Given the description of an element on the screen output the (x, y) to click on. 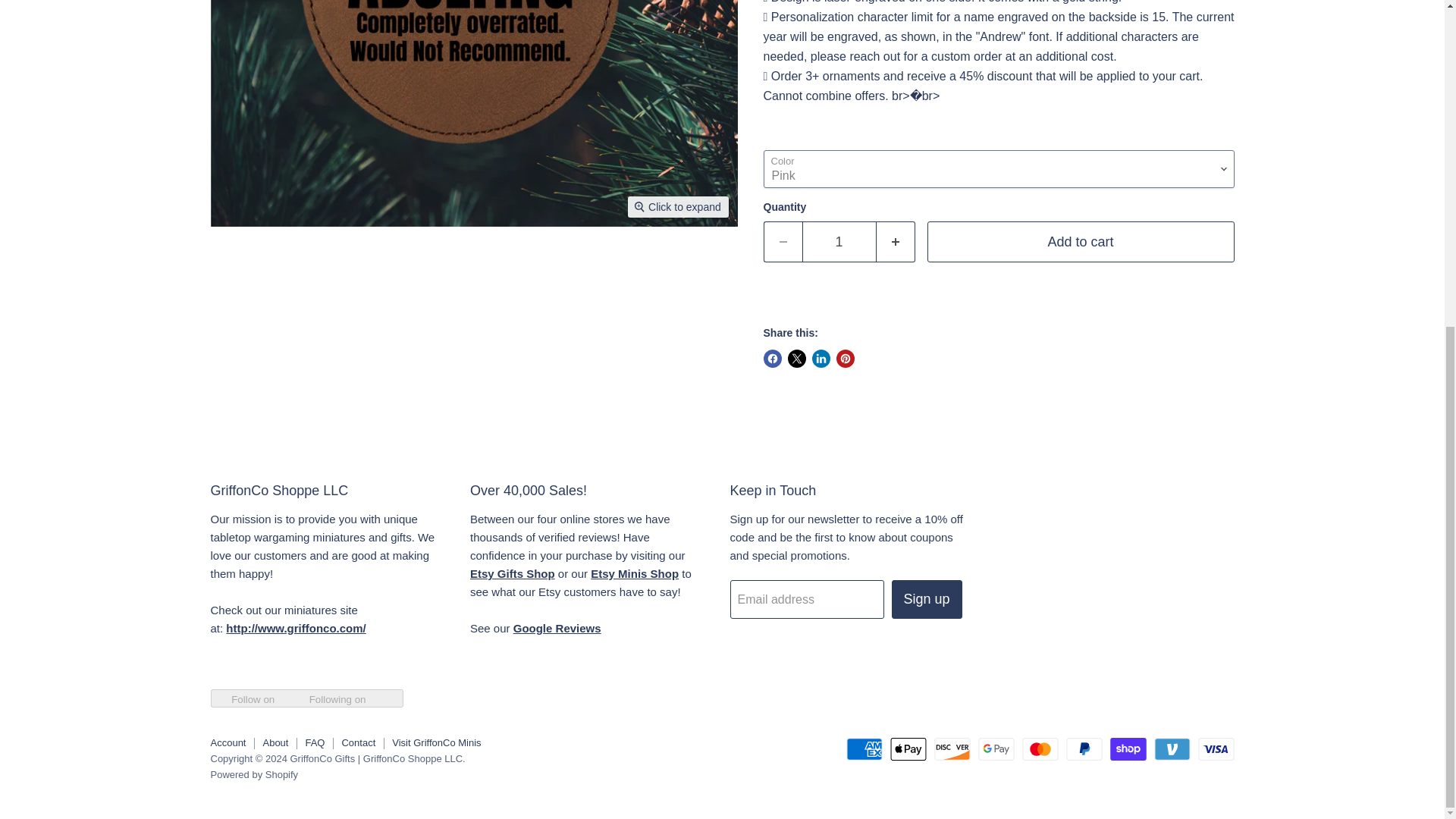
1 (839, 241)
Click to expand (678, 206)
